Given the description of an element on the screen output the (x, y) to click on. 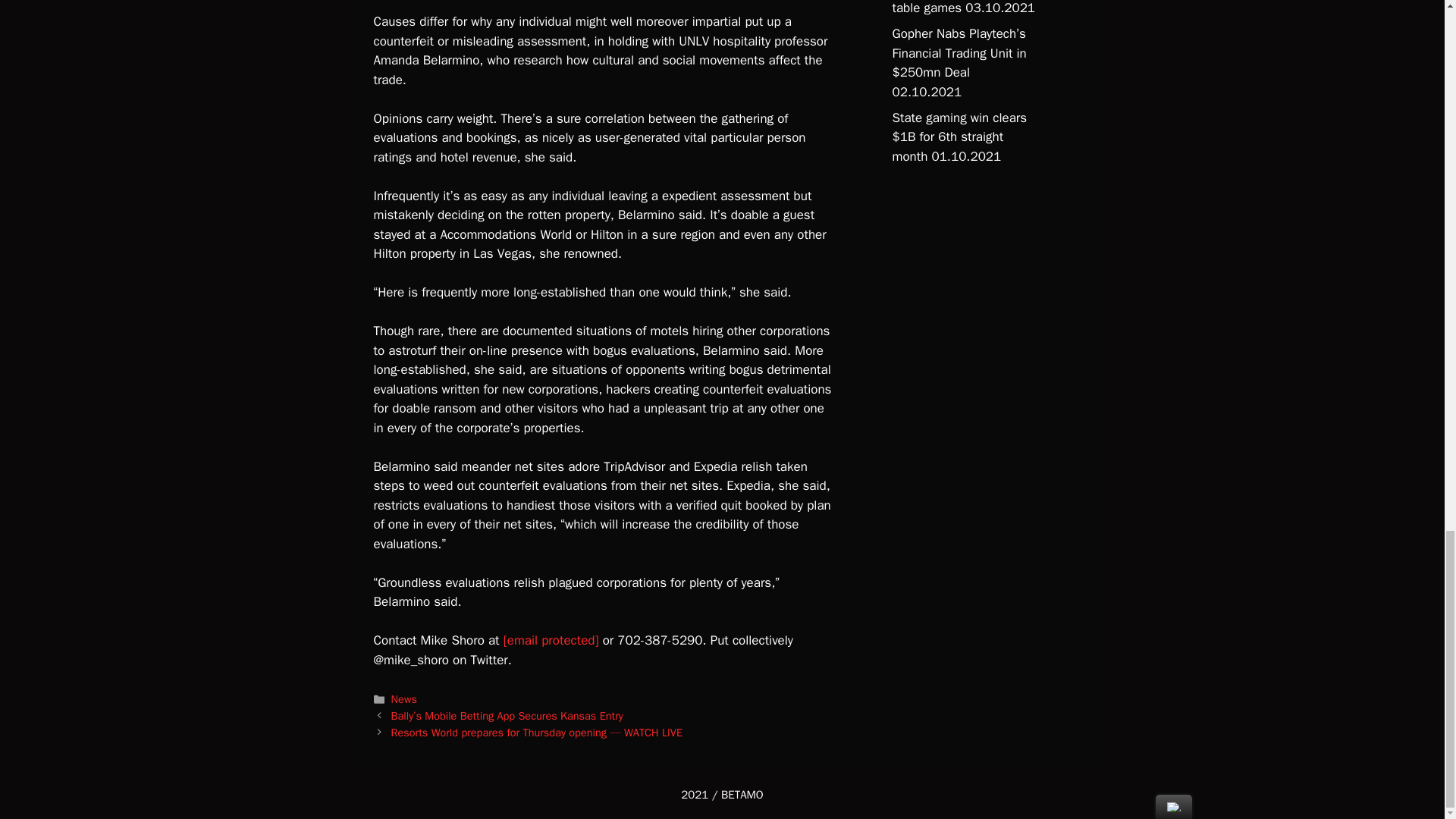
Next (536, 732)
News (403, 698)
Previous (507, 715)
Global Gaming Expo to showcase latest slots, table games (955, 7)
